Given the description of an element on the screen output the (x, y) to click on. 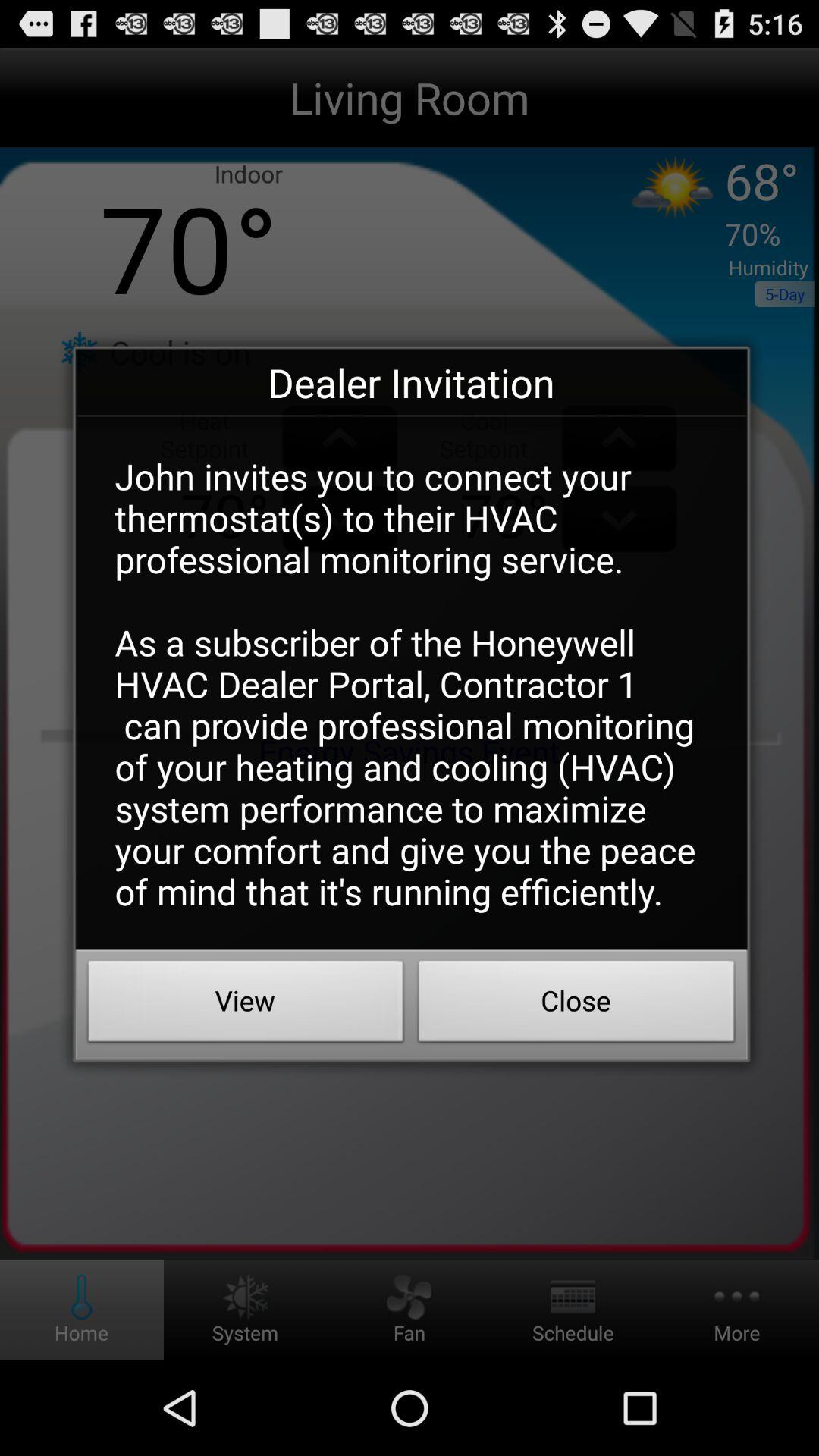
swipe until the close button (576, 1005)
